Given the description of an element on the screen output the (x, y) to click on. 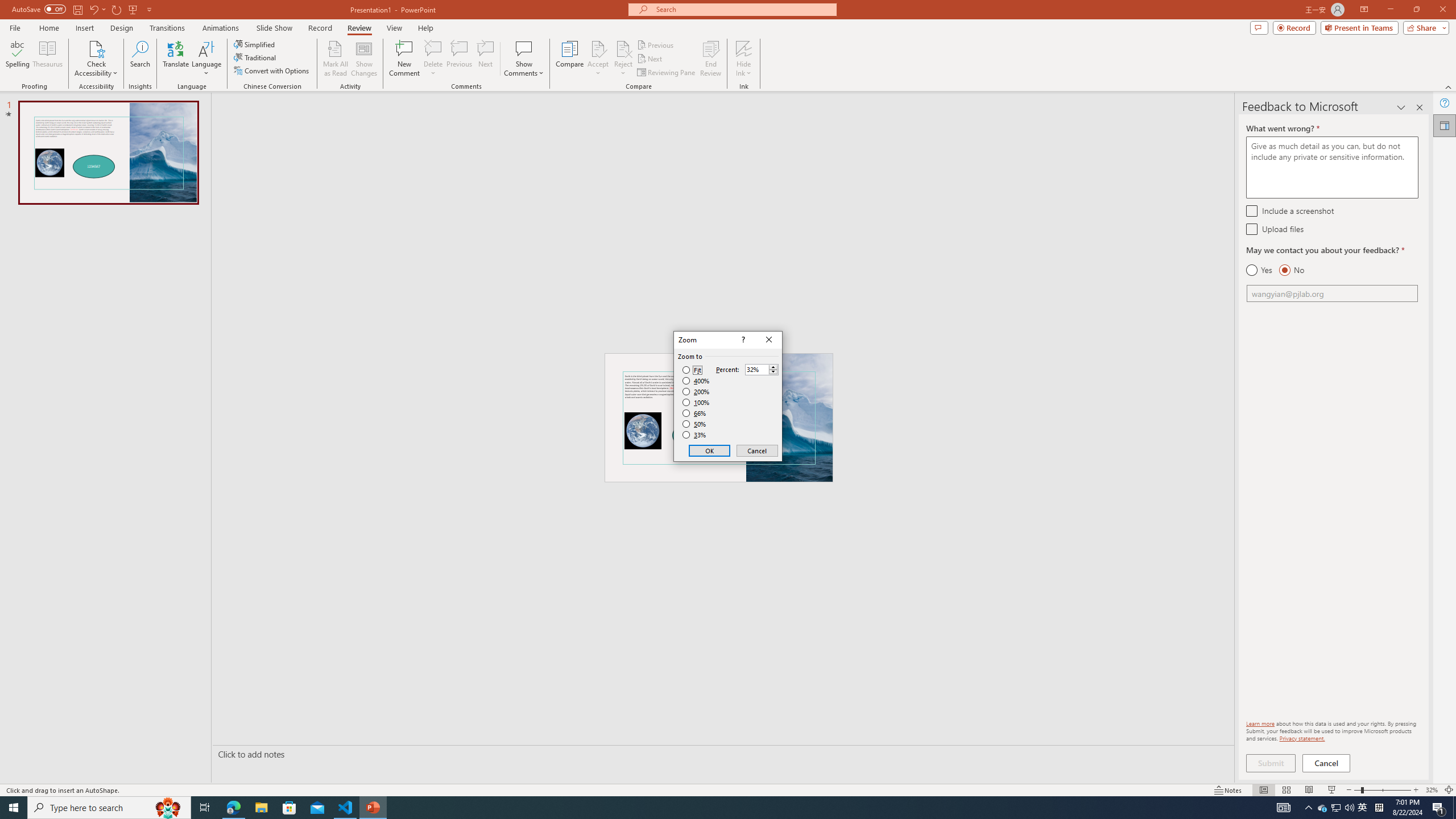
No (1291, 269)
